Given the description of an element on the screen output the (x, y) to click on. 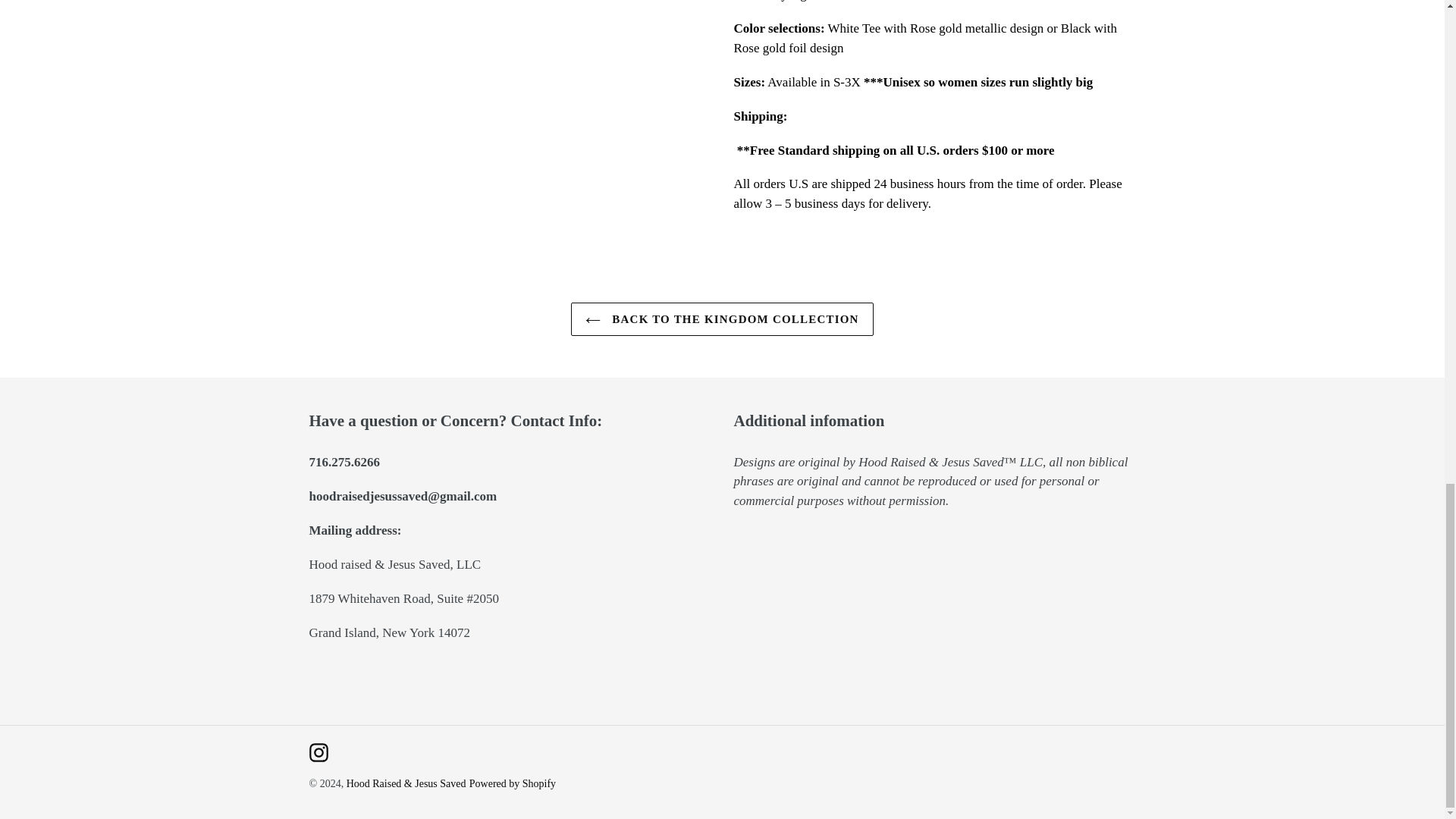
Powered by Shopify (512, 783)
BACK TO THE KINGDOM COLLECTION (721, 319)
Instagram (318, 752)
